Given the description of an element on the screen output the (x, y) to click on. 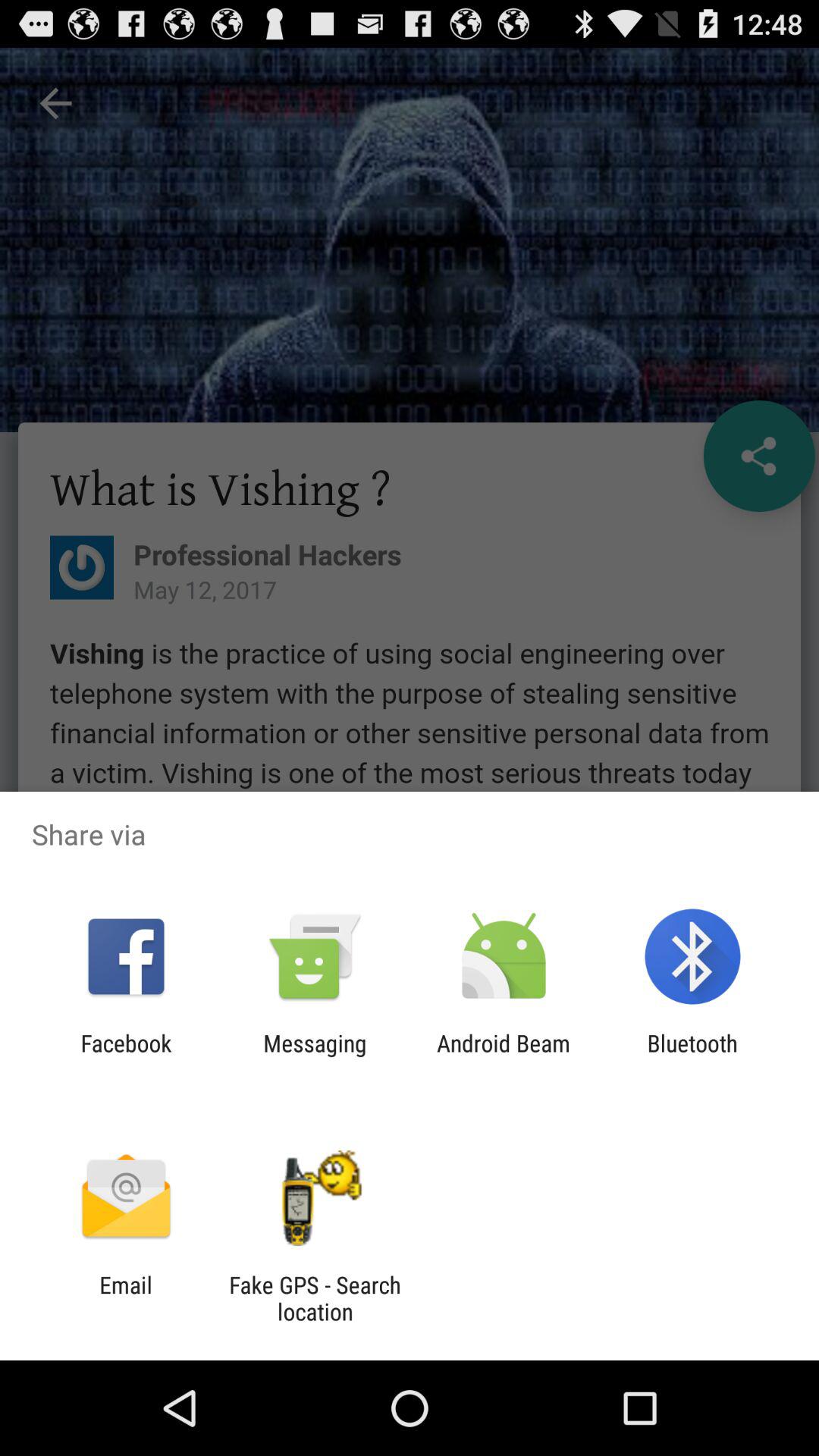
choose the item next to android beam icon (692, 1056)
